Given the description of an element on the screen output the (x, y) to click on. 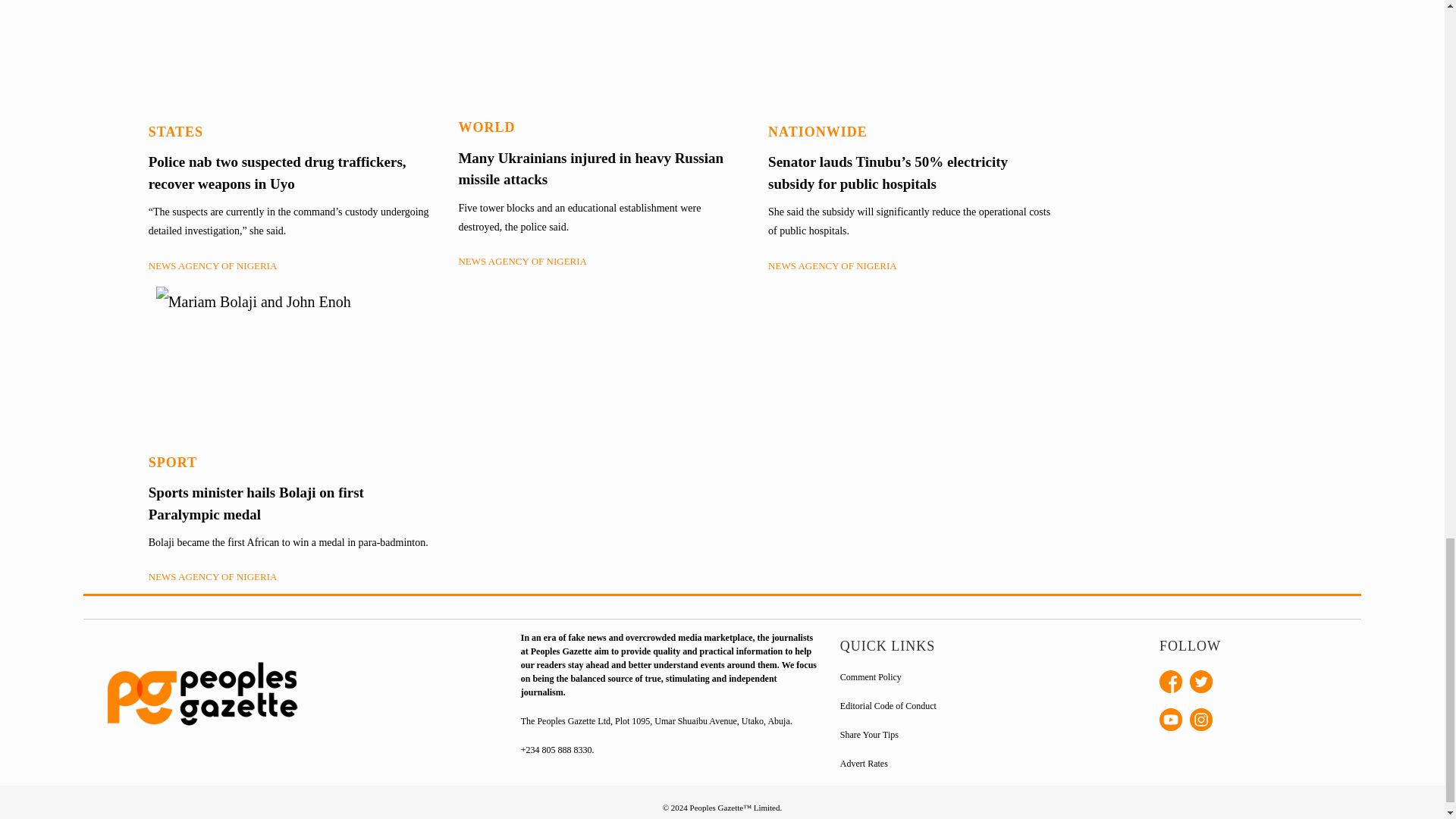
Posts by News Agency of Nigeria (522, 260)
Many Ukrainians injured in heavy Russian missile attacks (590, 168)
 States (175, 131)
Posts by News Agency of Nigeria (213, 265)
 World (486, 127)
